Given the description of an element on the screen output the (x, y) to click on. 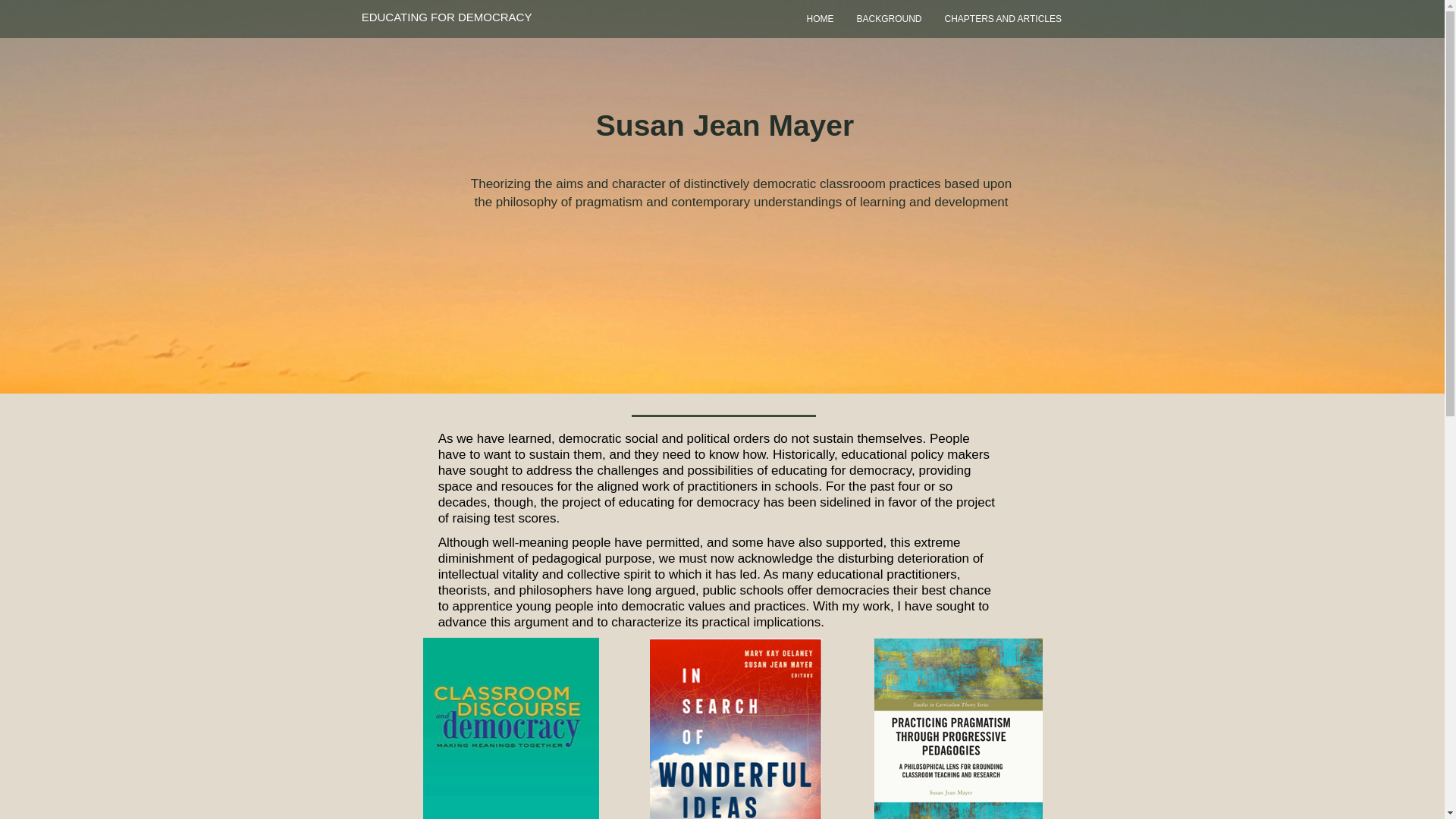
CHAPTERS AND ARTICLES (1003, 18)
BACKGROUND (888, 18)
HOME (819, 18)
